Given the description of an element on the screen output the (x, y) to click on. 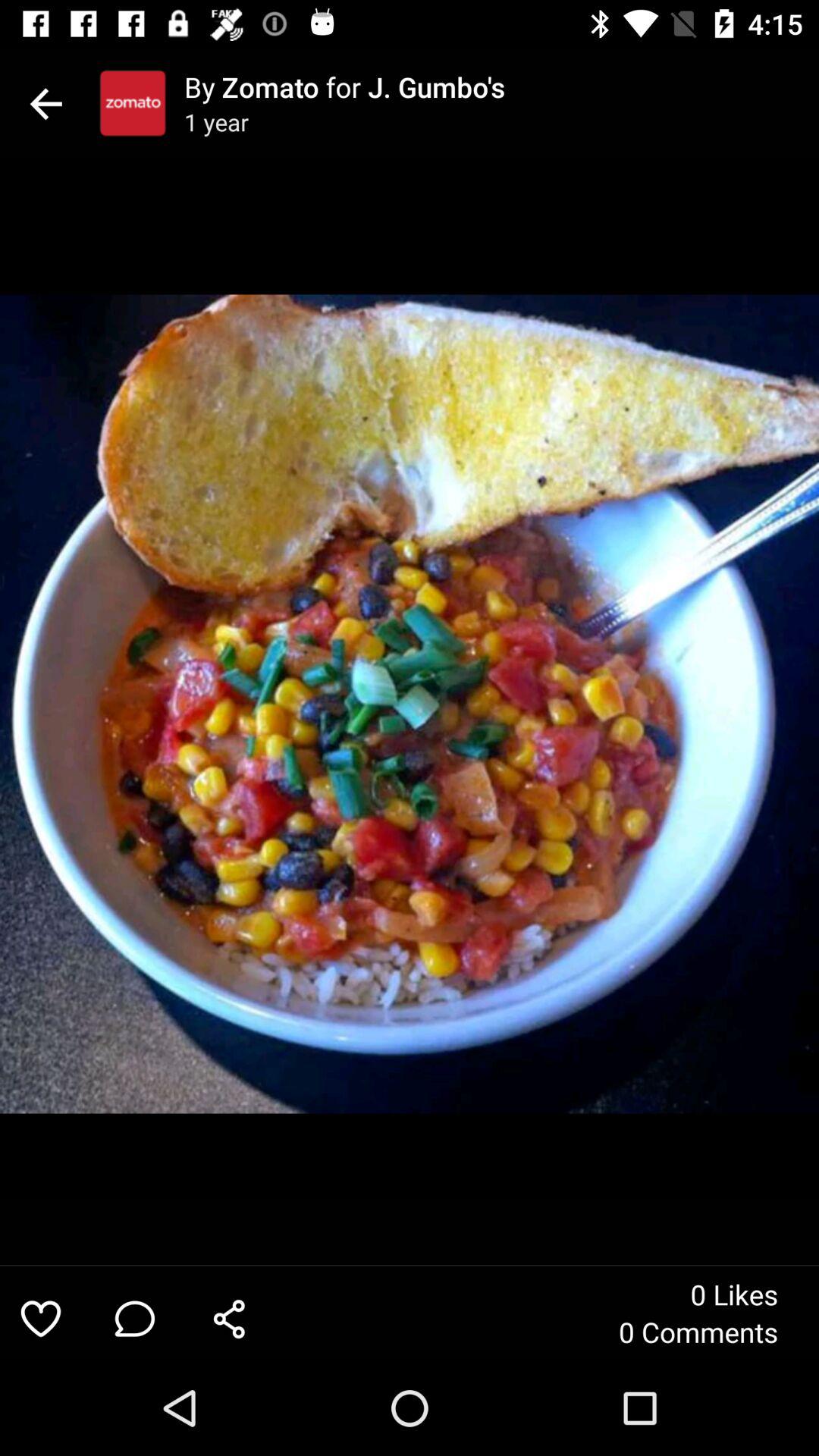
turn on icon next to the by zomato for (133, 103)
